Given the description of an element on the screen output the (x, y) to click on. 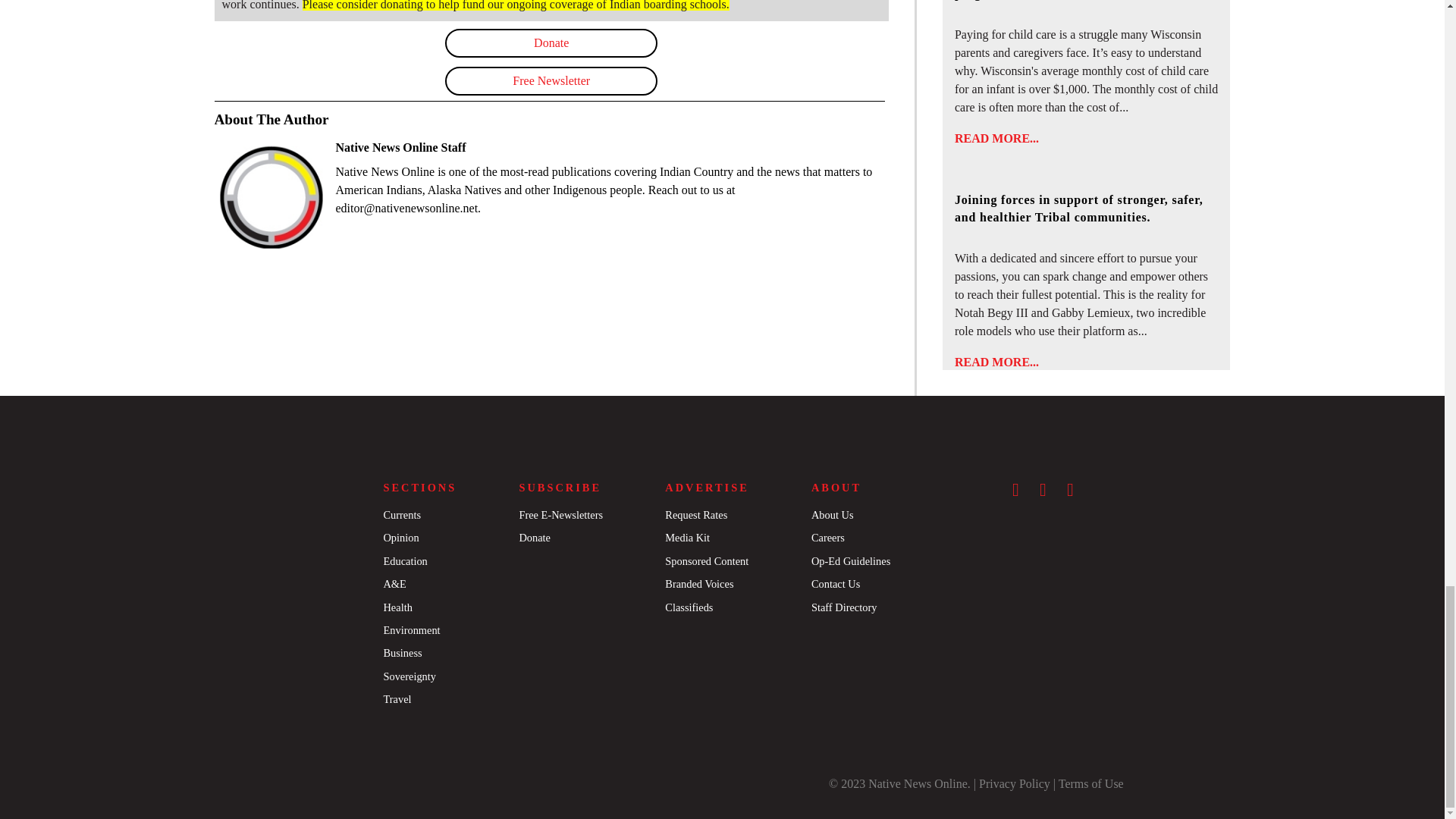
Environment (410, 630)
Donate (534, 537)
Branded Voices (699, 583)
Opinion (400, 537)
Education (404, 561)
Currents (401, 514)
Request Rates (695, 514)
Free E-Newsletters (560, 514)
Health (397, 607)
Sovereignty (408, 676)
